Given the description of an element on the screen output the (x, y) to click on. 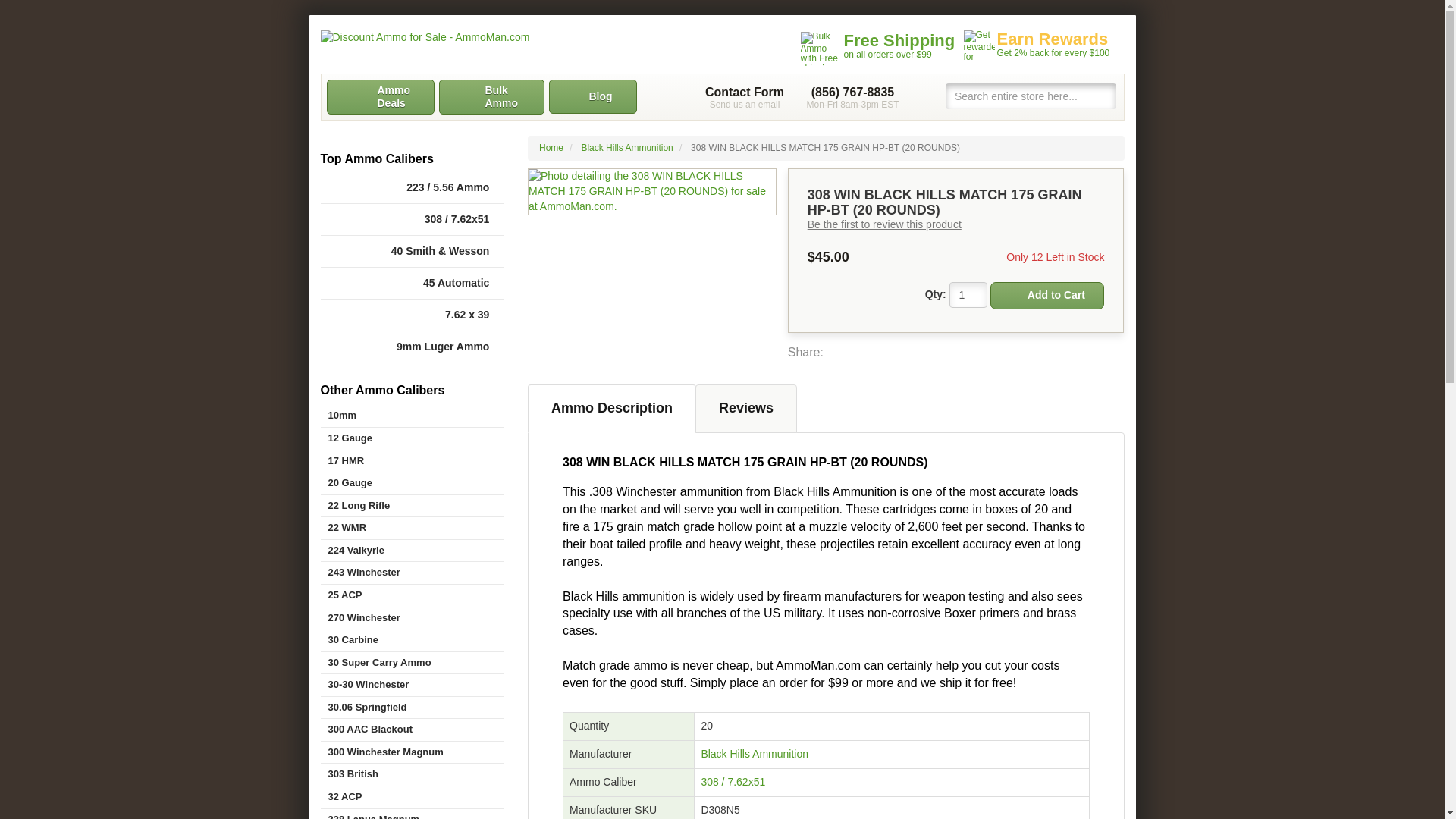
338 Lapua Magnum (411, 814)
7.62 x 39 (744, 97)
1 (411, 314)
Blog (968, 294)
243 Winchester (592, 96)
9mm Luger Ammo Ammo (411, 572)
17 HMR Ammo (411, 346)
45 Automatic (411, 461)
300 Winchester Magnum (411, 282)
